Given the description of an element on the screen output the (x, y) to click on. 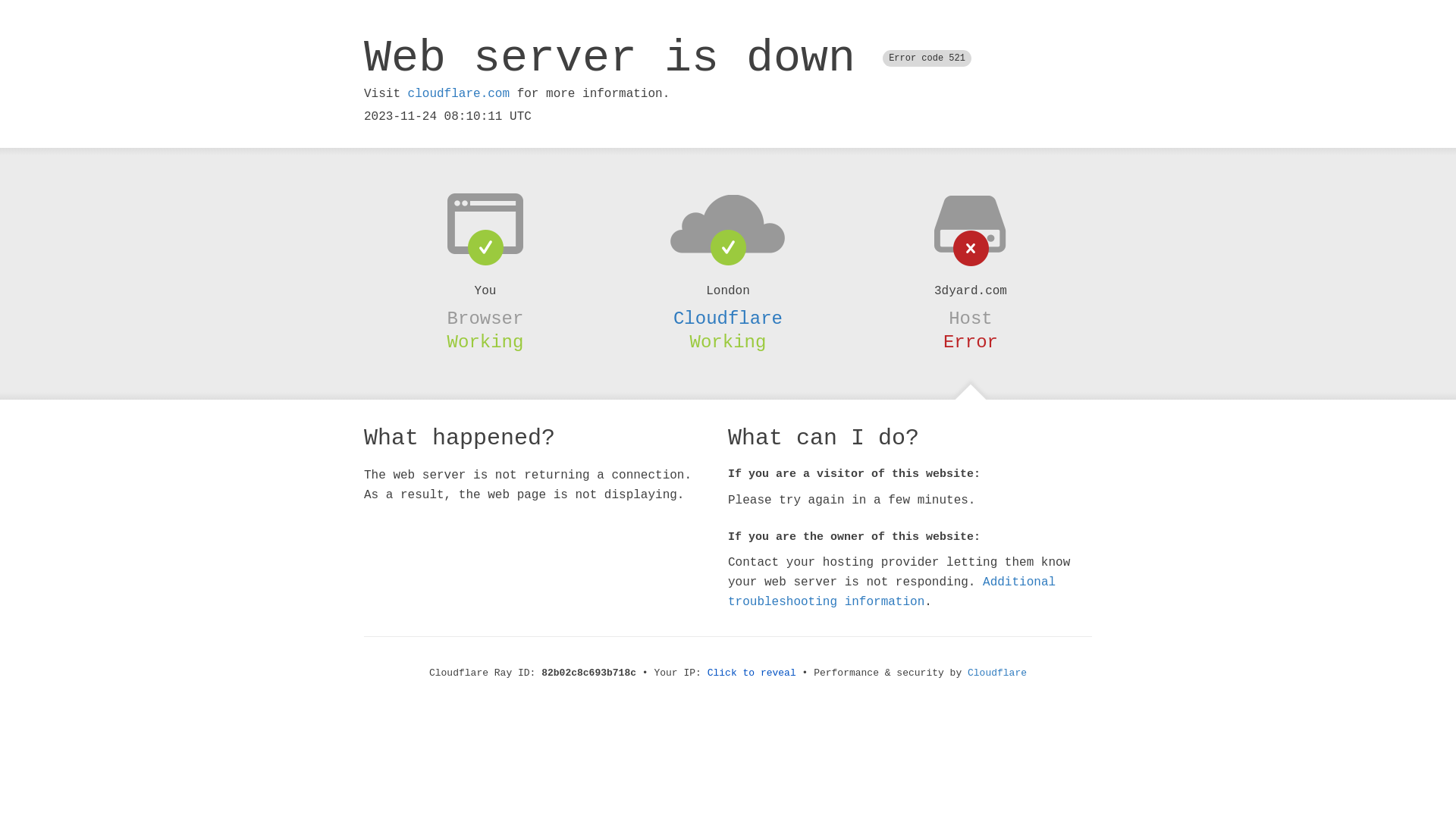
Cloudflare Element type: text (727, 318)
Click to reveal Element type: text (751, 672)
Additional troubleshooting information Element type: text (891, 591)
cloudflare.com Element type: text (458, 93)
Cloudflare Element type: text (996, 672)
